Given the description of an element on the screen output the (x, y) to click on. 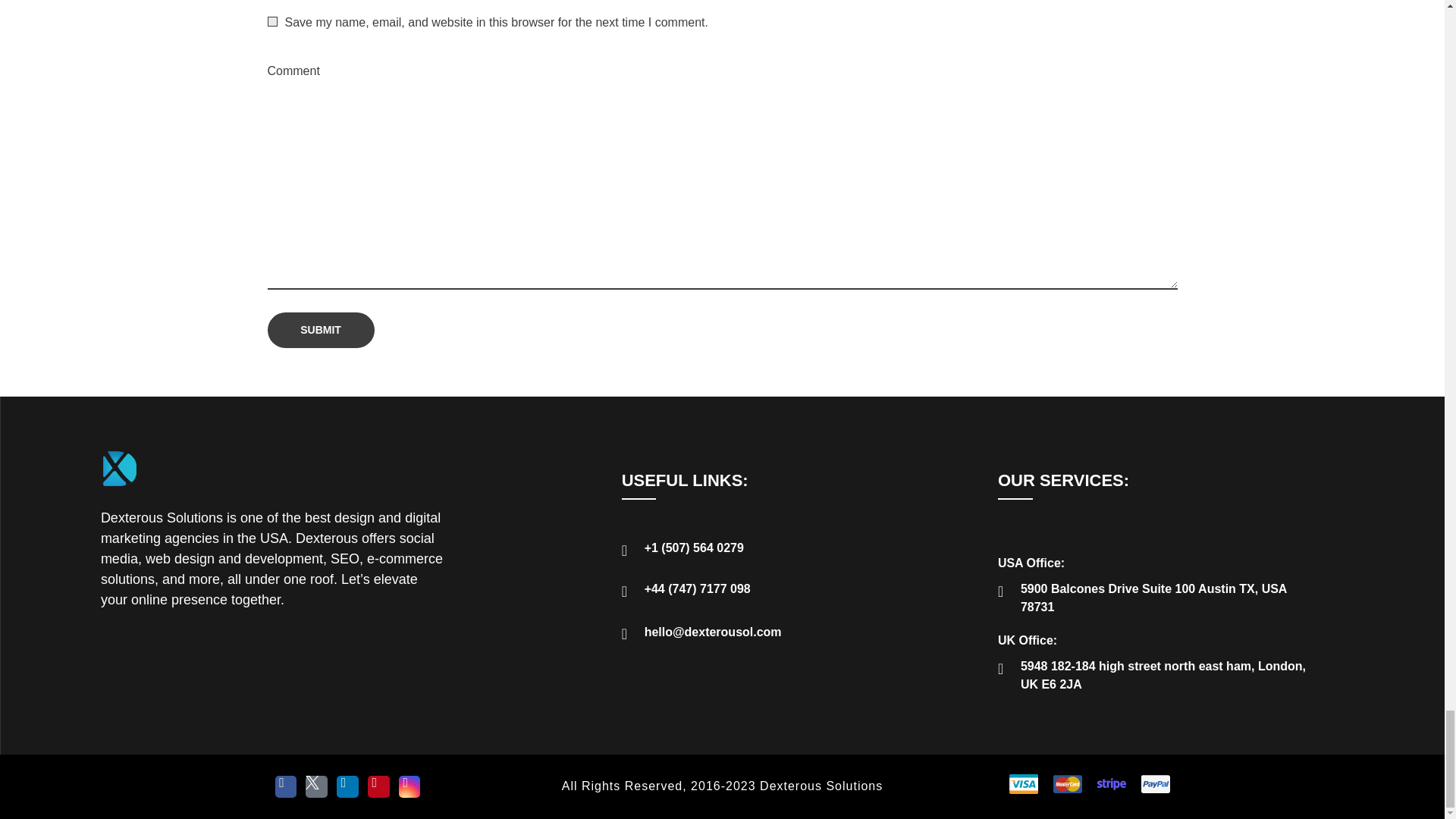
Dexterous Solutions (188, 496)
Submit (320, 330)
Submit (320, 330)
Dexterous Solutions (188, 496)
Dexterous Solutions (119, 468)
yes (271, 21)
